Given the description of an element on the screen output the (x, y) to click on. 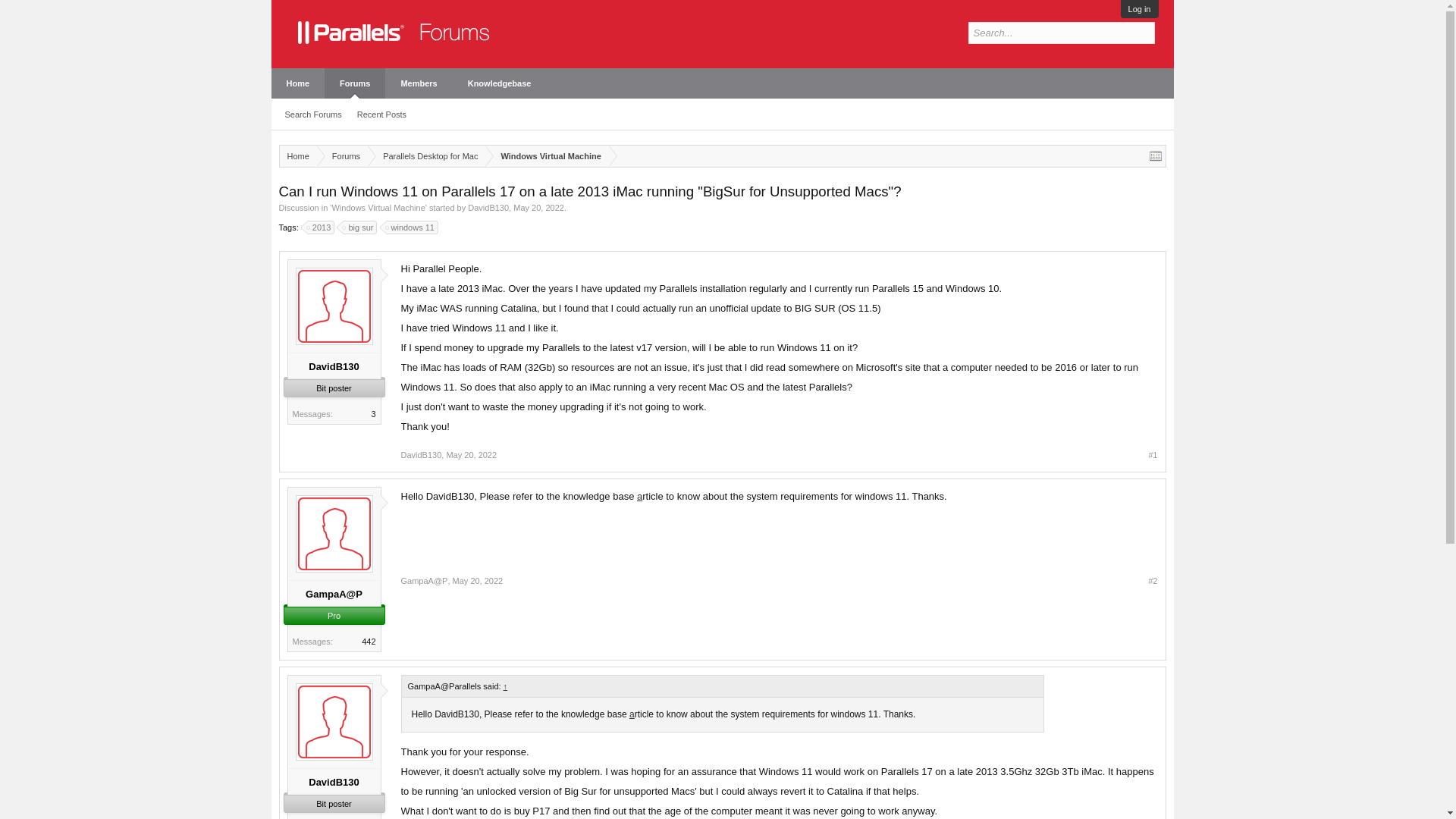
Forums (342, 156)
Permalink (477, 580)
Members (418, 82)
Search Forums (313, 114)
Forums (354, 82)
windows 11 (412, 227)
2013 (320, 227)
DavidB130 (334, 366)
May 20, 2022 (477, 580)
Open quick navigation (1155, 155)
